Given the description of an element on the screen output the (x, y) to click on. 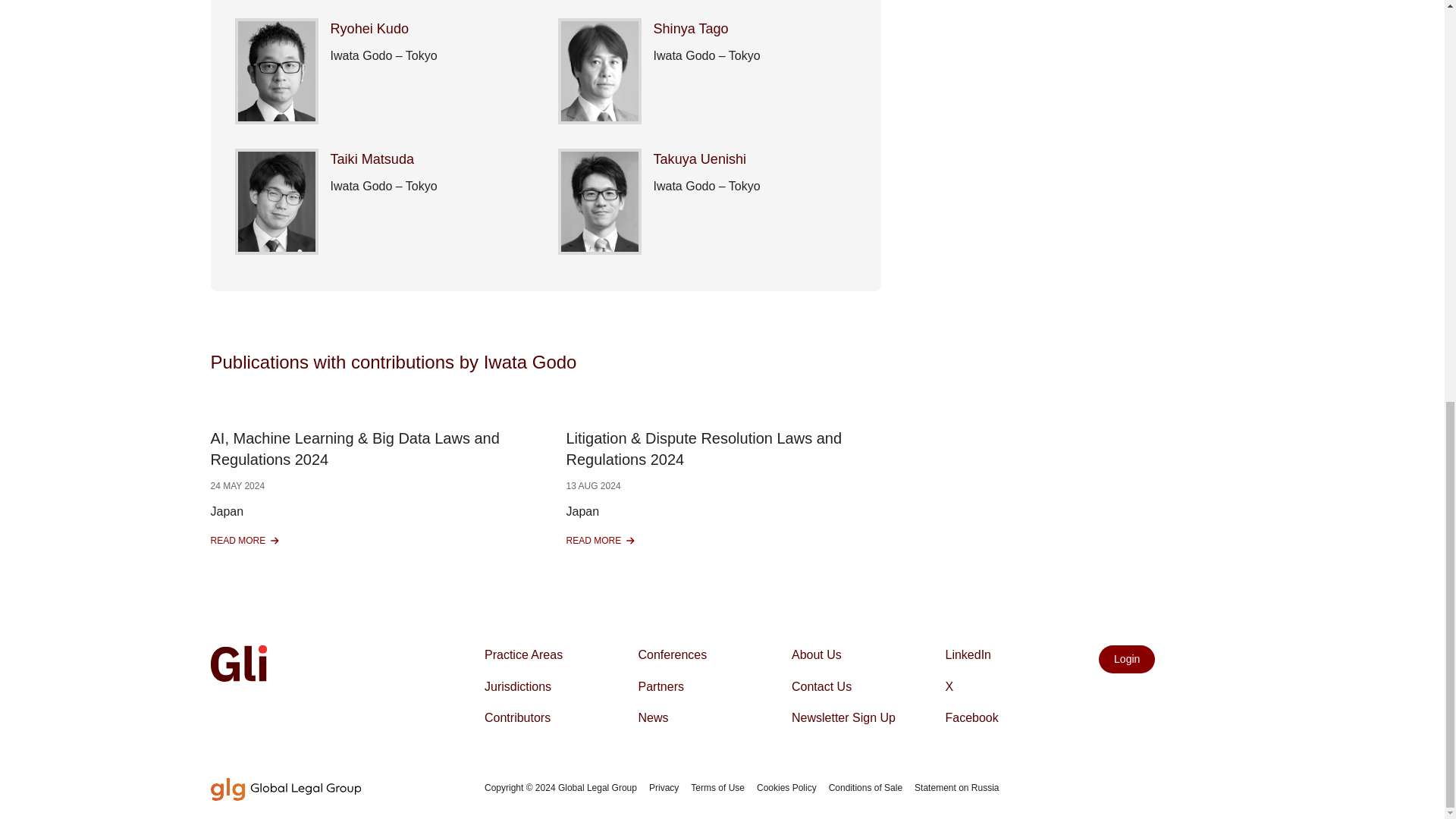
Practice Areas (523, 655)
Takuya Uenishi (699, 159)
Ryohei Kudo (369, 28)
Shinya Tago (602, 540)
Taiki Matsuda (691, 28)
Jurisdictions (247, 540)
